Given the description of an element on the screen output the (x, y) to click on. 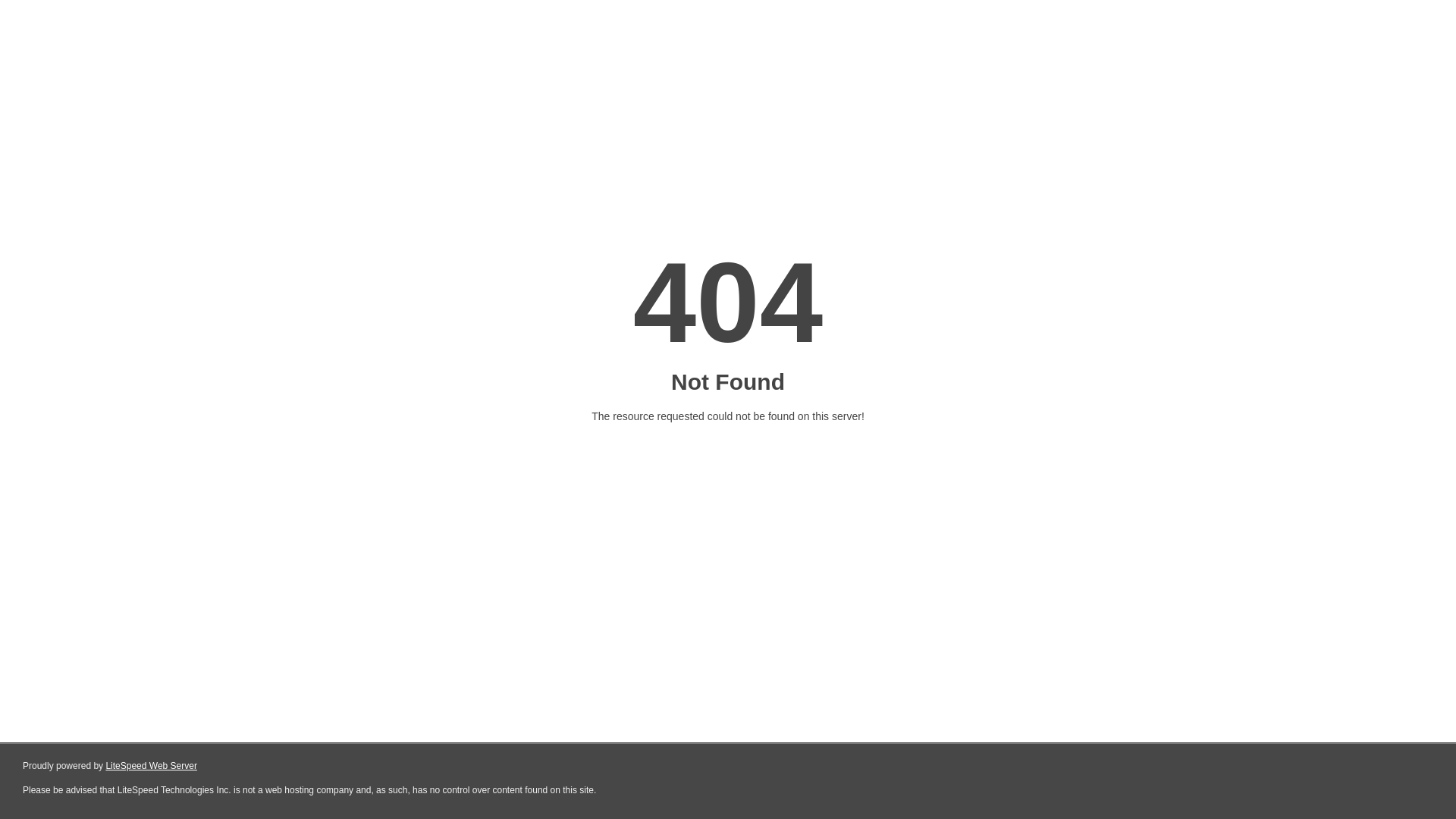
LiteSpeed Web Server Element type: text (151, 765)
